Given the description of an element on the screen output the (x, y) to click on. 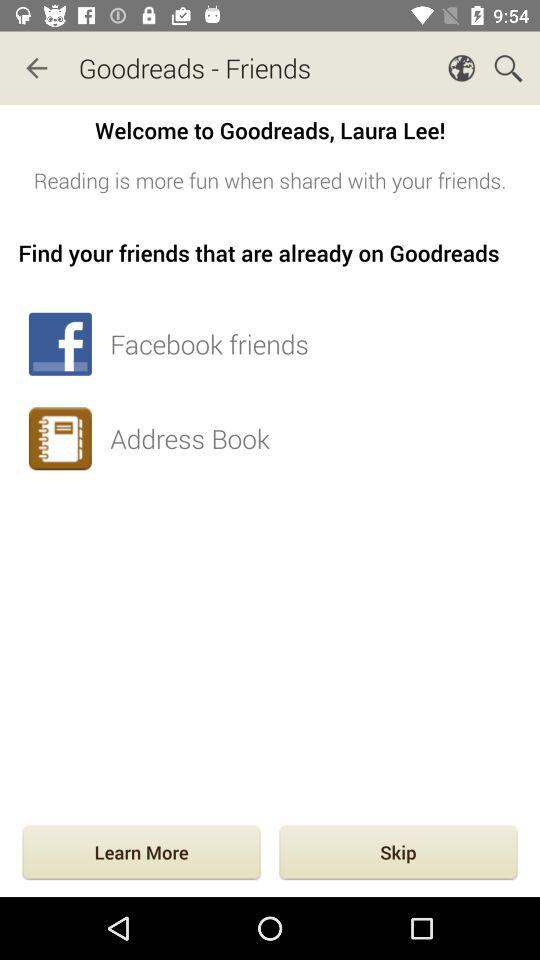
launch the app to the left of the goodreads - friends app (36, 68)
